Given the description of an element on the screen output the (x, y) to click on. 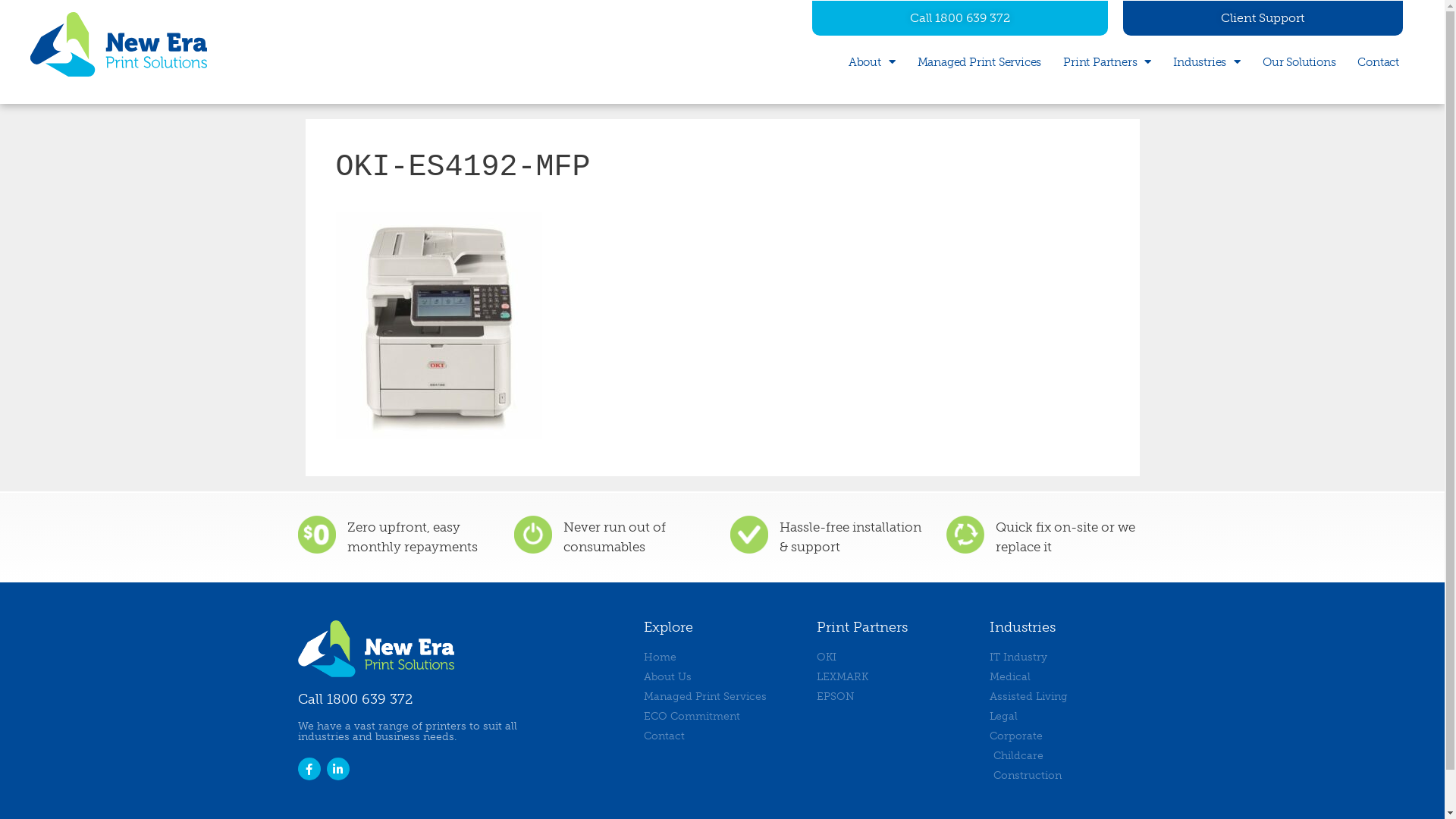
LEXMARK Element type: text (894, 676)
IT Industry Element type: text (1067, 657)
About Us Element type: text (721, 676)
Medical Element type: text (1067, 676)
Our Solutions Element type: text (1298, 61)
About Element type: text (871, 61)
Contact Element type: text (1378, 61)
Print Partners Element type: text (1107, 61)
Call 1800 639 372 Element type: text (354, 698)
Industries Element type: text (1206, 61)
Client Support Element type: text (1262, 17)
ECO Commitment Element type: text (721, 716)
Call 1800 639 372 Element type: text (959, 17)
Childcare Element type: text (1067, 755)
Construction Element type: text (1067, 775)
Home Element type: text (721, 657)
Contact Element type: text (721, 735)
Legal Element type: text (1067, 716)
EPSON Element type: text (894, 696)
Assisted Living Element type: text (1067, 696)
Corporate Element type: text (1067, 735)
Managed Print Services Element type: text (721, 696)
Managed Print Services Element type: text (979, 61)
OKI Element type: text (894, 657)
